Given the description of an element on the screen output the (x, y) to click on. 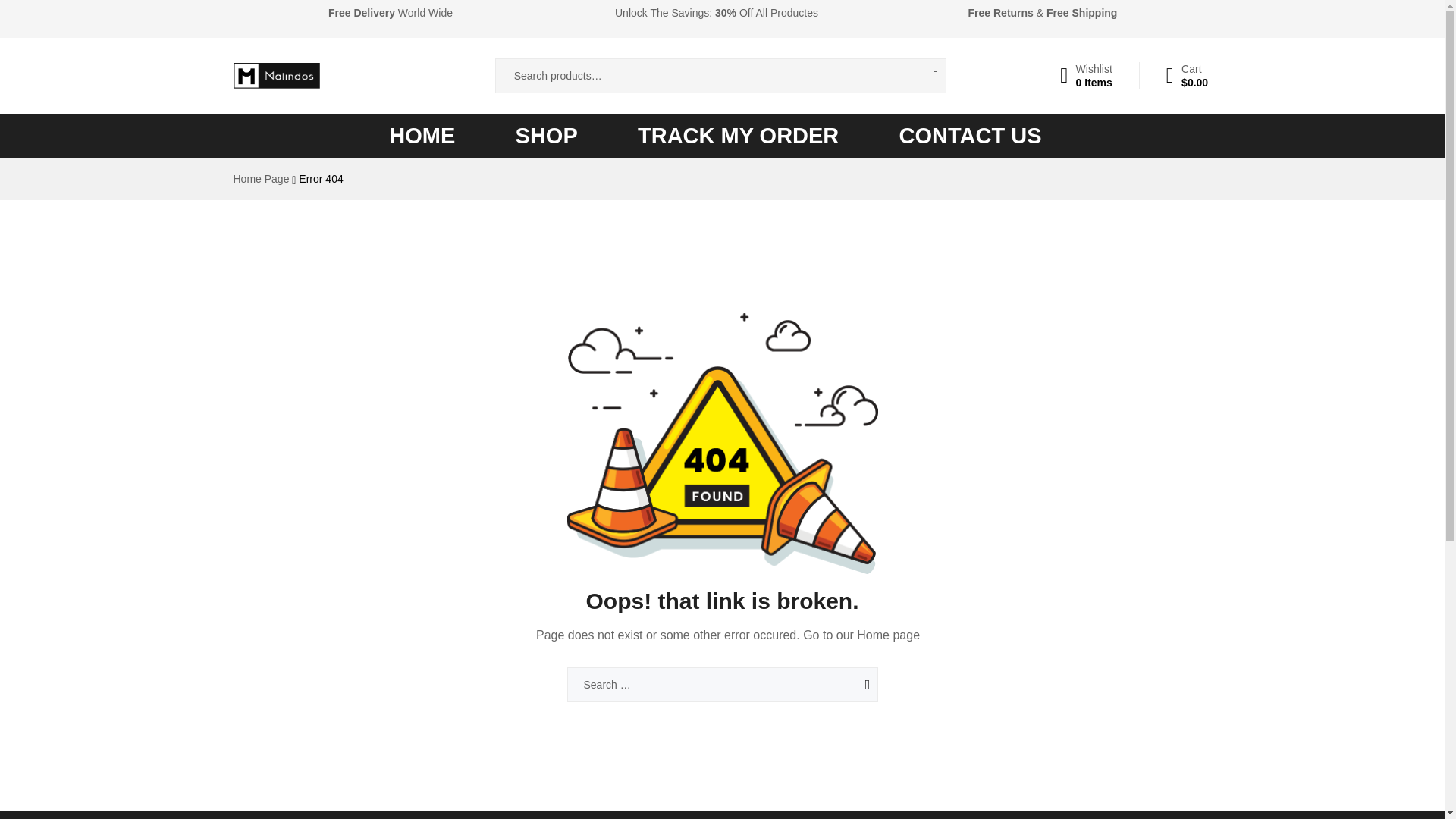
HOME (422, 135)
TRACK MY ORDER (737, 135)
Search (846, 684)
View your shopping cart (1187, 75)
Search (923, 75)
Search (846, 684)
Search (846, 684)
CONTACT US (970, 135)
Home Page (260, 178)
Home page (888, 634)
